Given the description of an element on the screen output the (x, y) to click on. 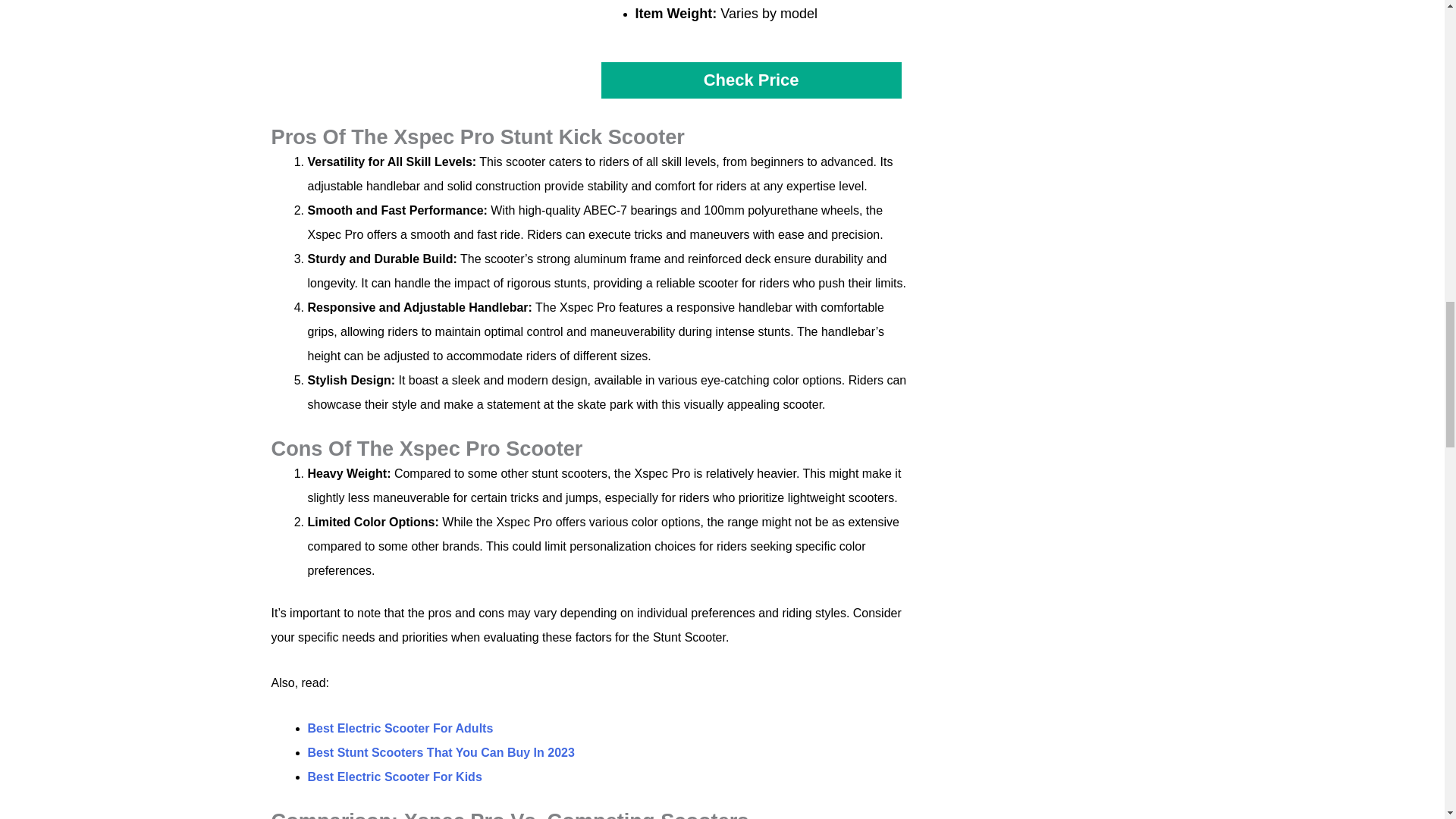
Check Price (751, 79)
Best Stunt Scooters That You Can Buy In 2023 (441, 752)
Best Electric Scooter For Kids (394, 776)
Best Stunt Scooters That You Can Buy In 2023 (441, 752)
Best Electric Scooter For Kids (394, 776)
Best Electric Scooter For Adults (400, 727)
